Given the description of an element on the screen output the (x, y) to click on. 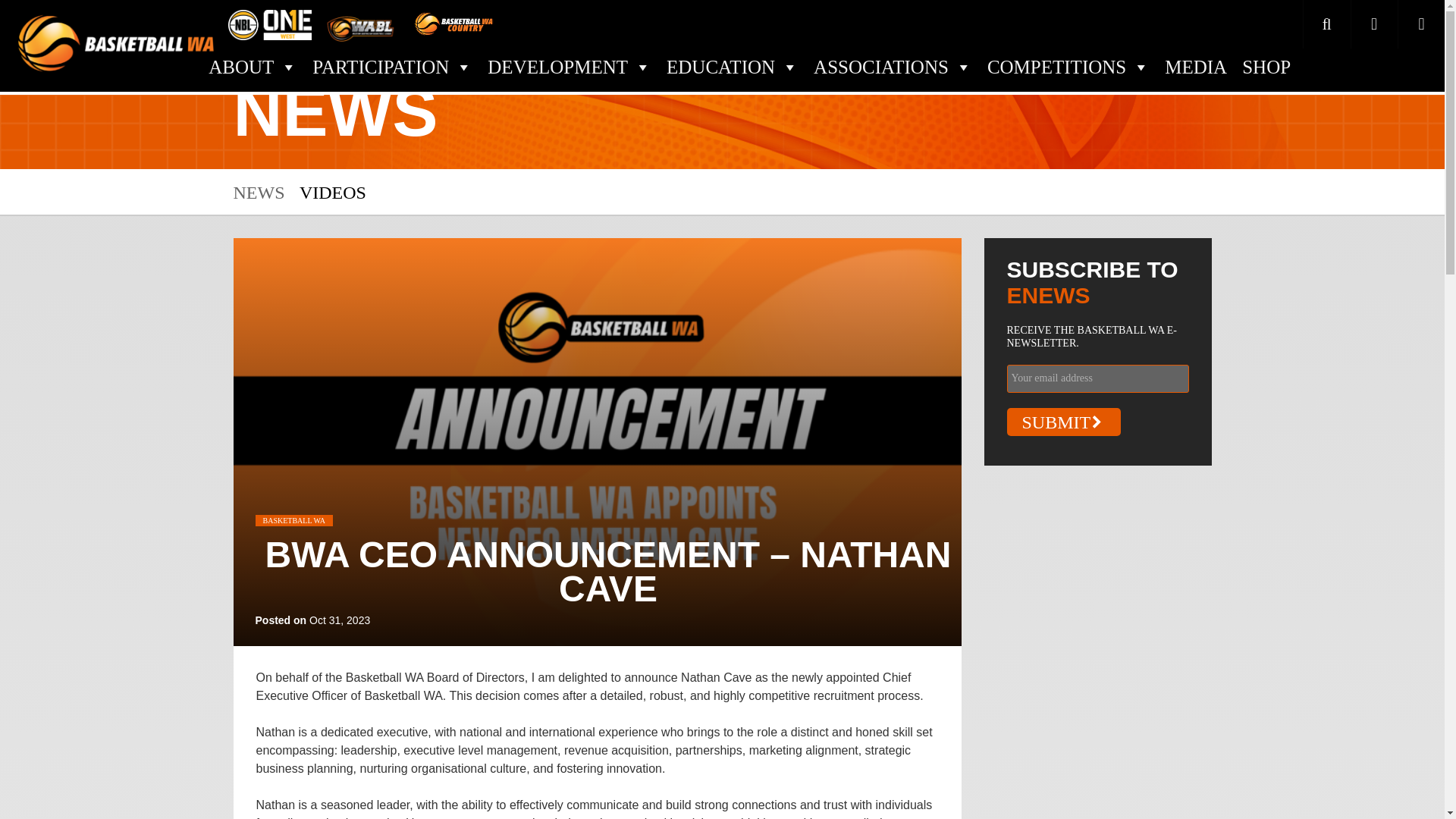
DEVELOPMENT (568, 67)
PARTICIPATION (392, 67)
Basketball WA (115, 39)
Videos (332, 192)
Basketball WA Country (454, 22)
Submit (1064, 421)
News (258, 192)
WABL (362, 22)
NBL1 West (269, 22)
ABOUT (252, 67)
Facebook (1374, 24)
